Given the description of an element on the screen output the (x, y) to click on. 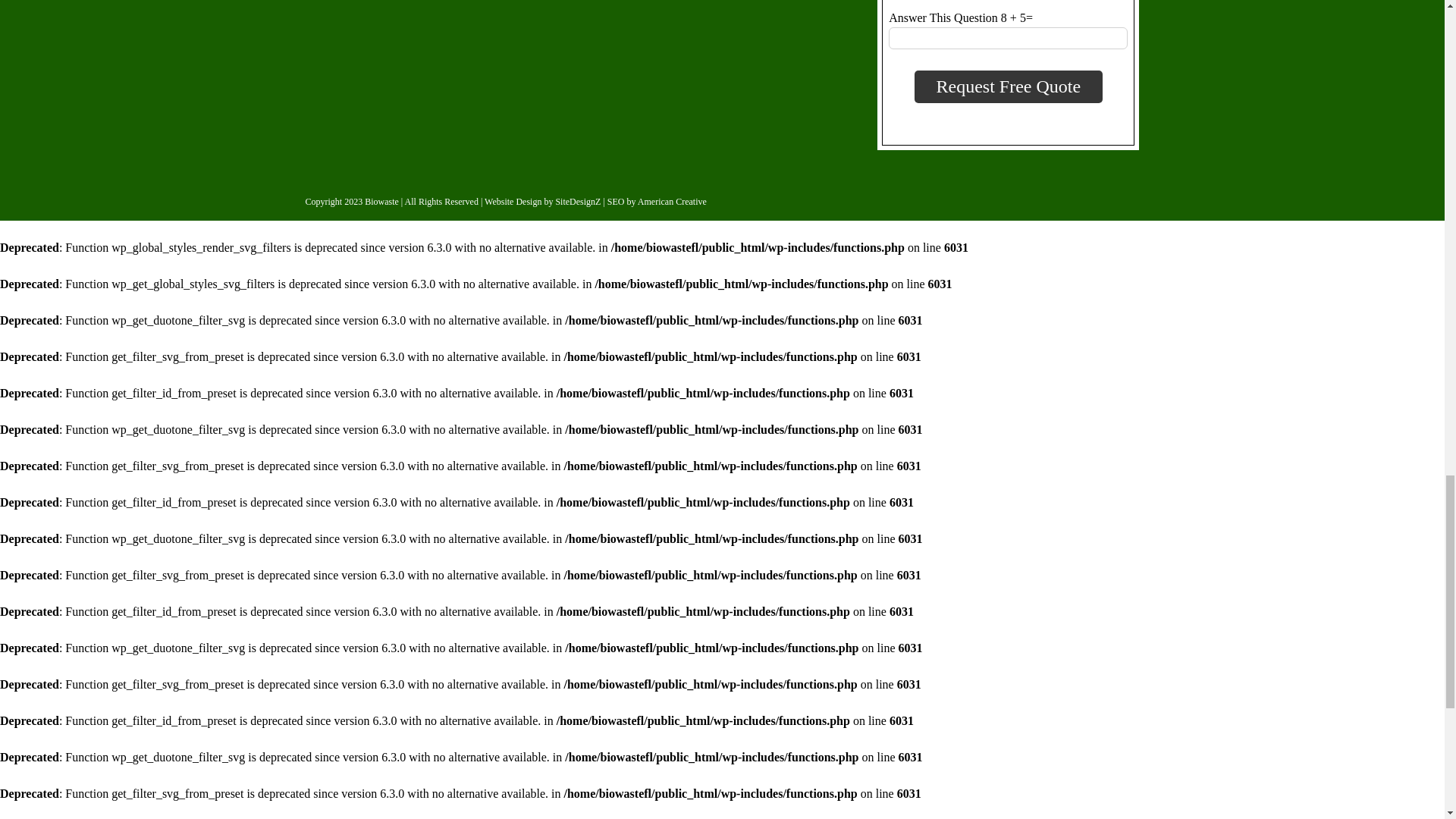
Request Free Quote (1008, 86)
